Given the description of an element on the screen output the (x, y) to click on. 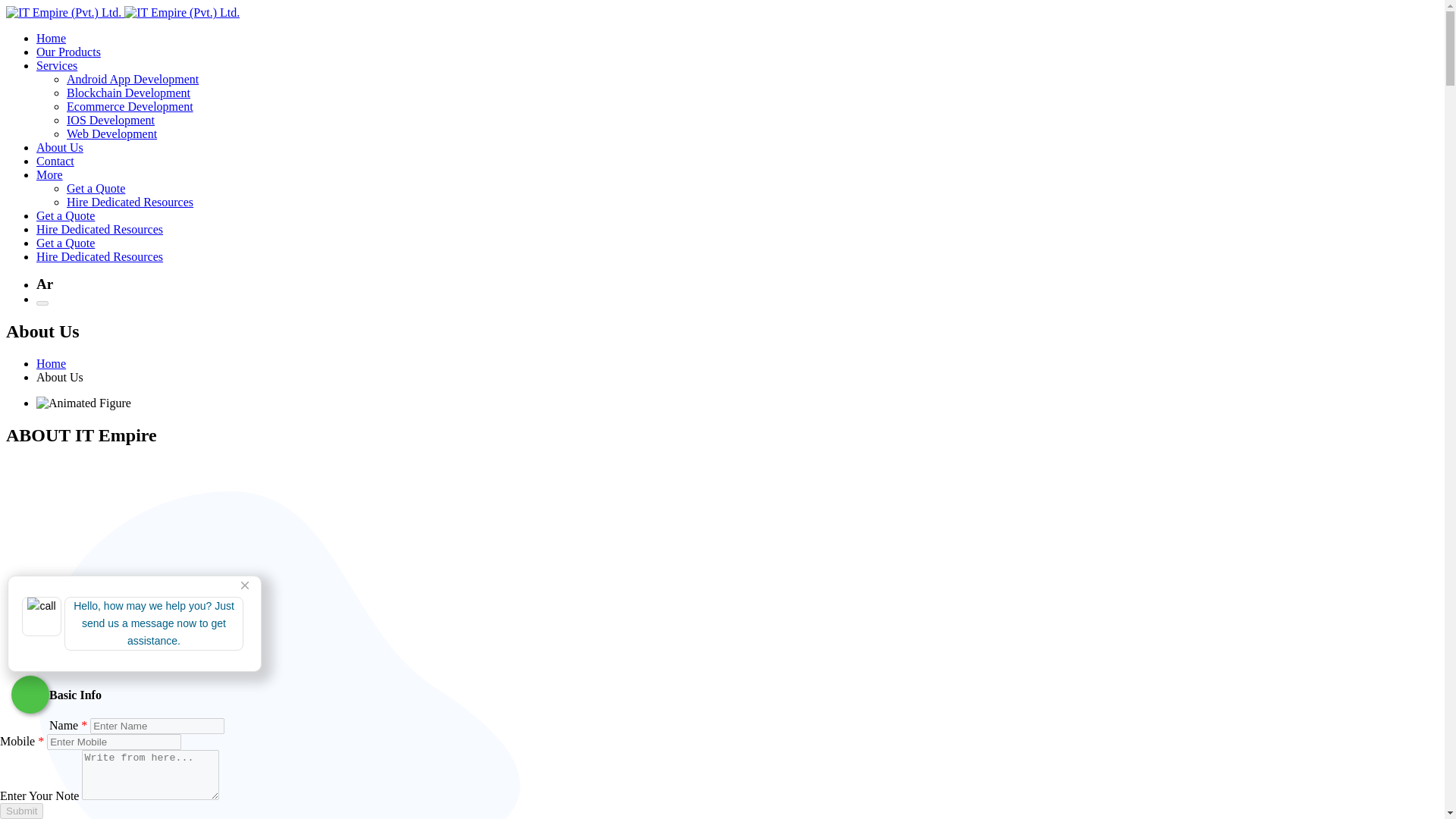
Services (56, 65)
Home (50, 363)
Ecommerce Development (129, 106)
Get a Quote (65, 242)
Our Products (68, 51)
Contact (55, 160)
Hire Dedicated Resources (129, 201)
Home (50, 38)
About Us (59, 146)
Get a Quote (95, 187)
IOS Development (110, 119)
Get a Quote (65, 215)
Blockchain Development (128, 92)
Hire Dedicated Resources (99, 228)
Android App Development (132, 78)
